Given the description of an element on the screen output the (x, y) to click on. 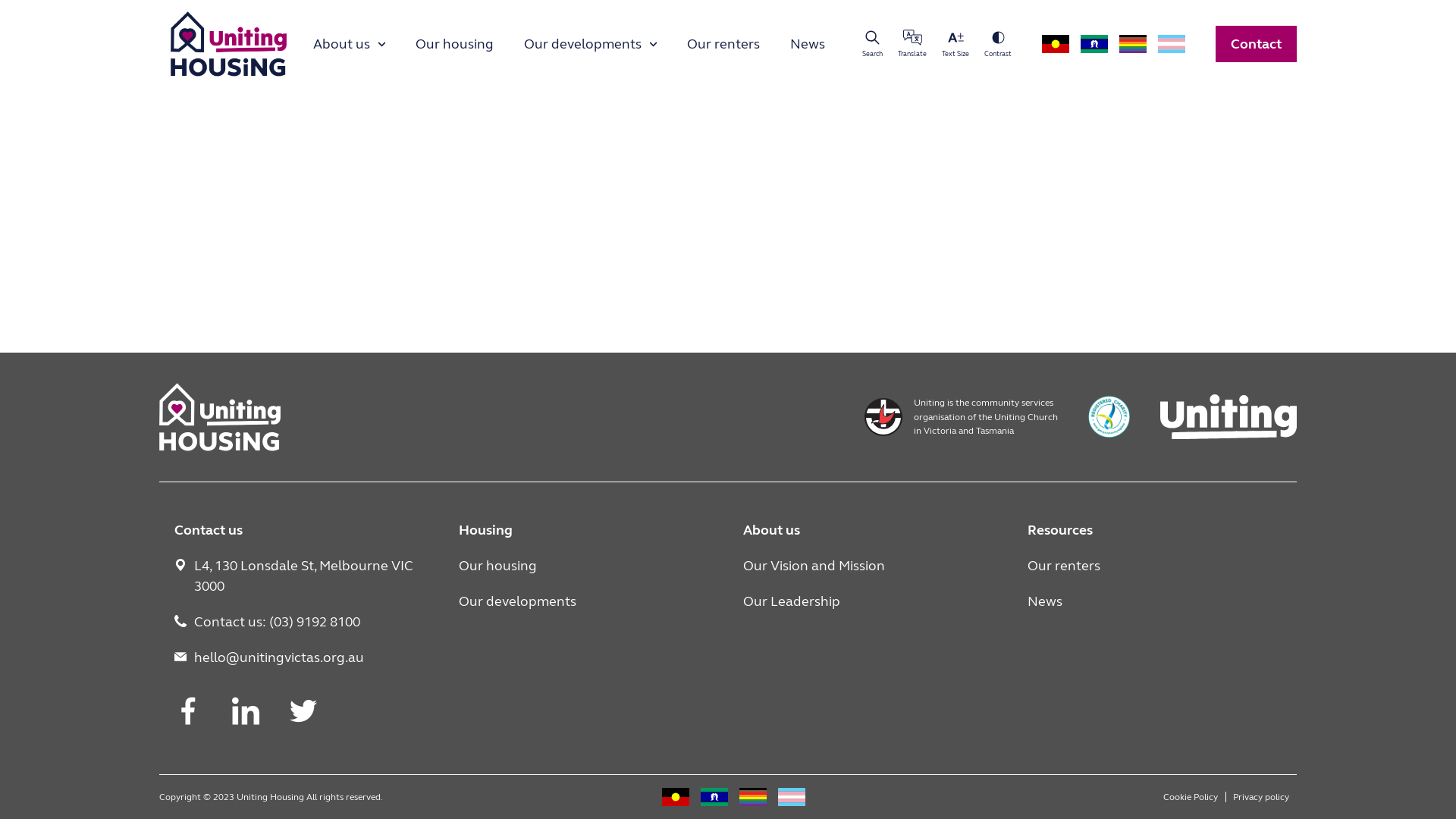
Our housing Element type: text (585, 565)
Contact us Element type: text (301, 530)
hello@unitingvictas.org.au Element type: text (301, 657)
News Element type: text (1154, 601)
Twitter Element type: hover (303, 711)
News Element type: text (807, 44)
Facebook Element type: hover (187, 711)
Contrast Element type: text (997, 43)
About us Element type: text (349, 44)
Resources Element type: text (1154, 530)
Privacy policy Element type: text (1260, 796)
Uniting Element type: text (1228, 416)
About us Element type: text (870, 530)
Contact us: (03) 9192 8100 Element type: text (301, 622)
Search Element type: text (872, 43)
Our developments Element type: text (585, 601)
Translate Element type: text (912, 43)
Contact Element type: text (1255, 43)
Our renters Element type: text (1154, 565)
Cookie Policy Element type: text (1190, 796)
Housing Element type: text (585, 530)
Our renters Element type: text (723, 44)
Text Size Element type: text (955, 43)
Our developments Element type: text (589, 44)
Our housing Element type: text (454, 44)
Our Vision and Mission Element type: text (870, 565)
L4, 130 Lonsdale St, Melbourne VIC 3000 Element type: text (301, 576)
Our Leadership Element type: text (870, 601)
LinkedIn Element type: hover (245, 711)
